Given the description of an element on the screen output the (x, y) to click on. 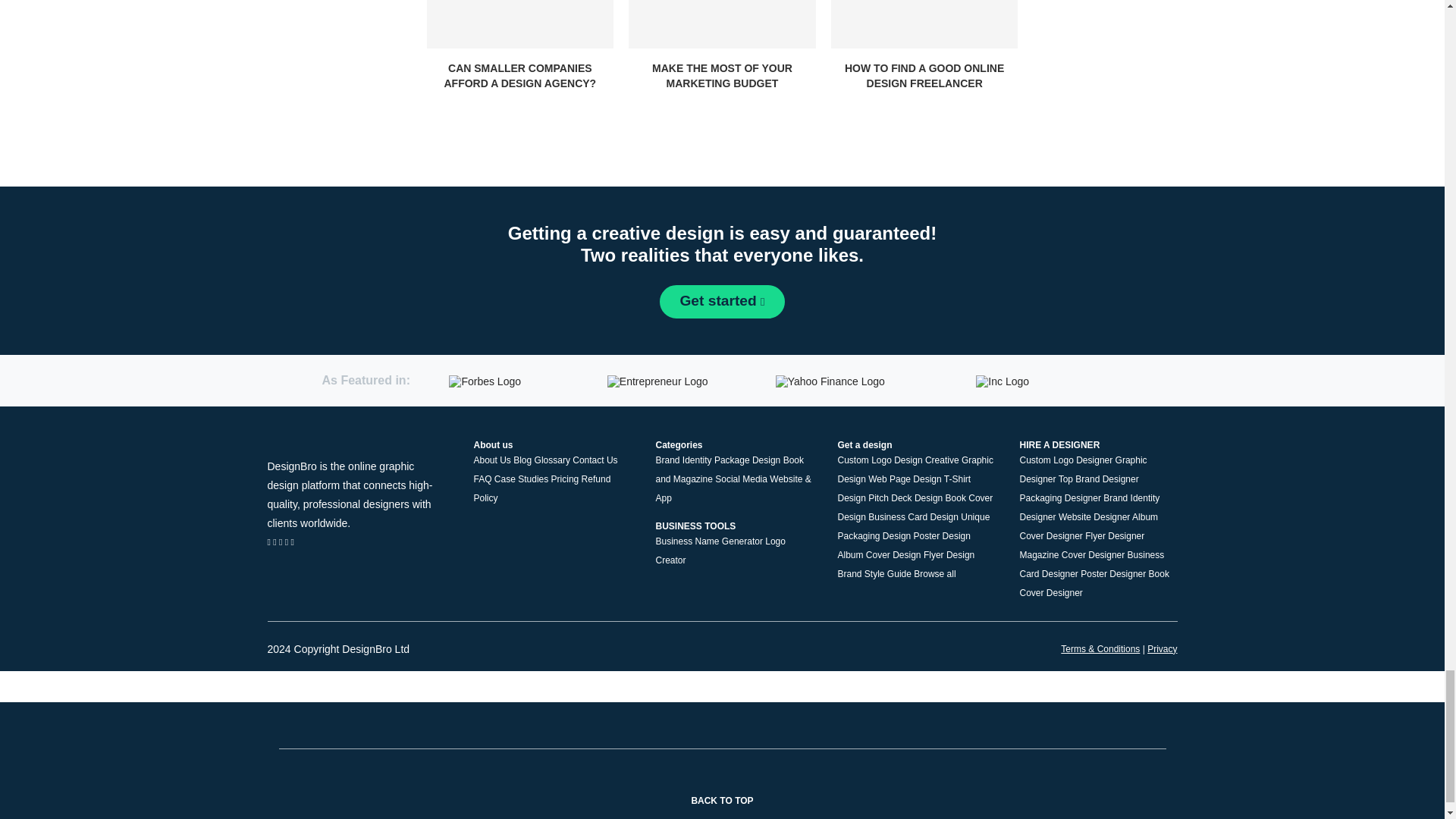
Can Smaller Companies Afford a Design Agency? (519, 24)
How to Find a Good Online Design Freelancer (924, 24)
Make the Most of Your Marketing Budget (721, 24)
